Given the description of an element on the screen output the (x, y) to click on. 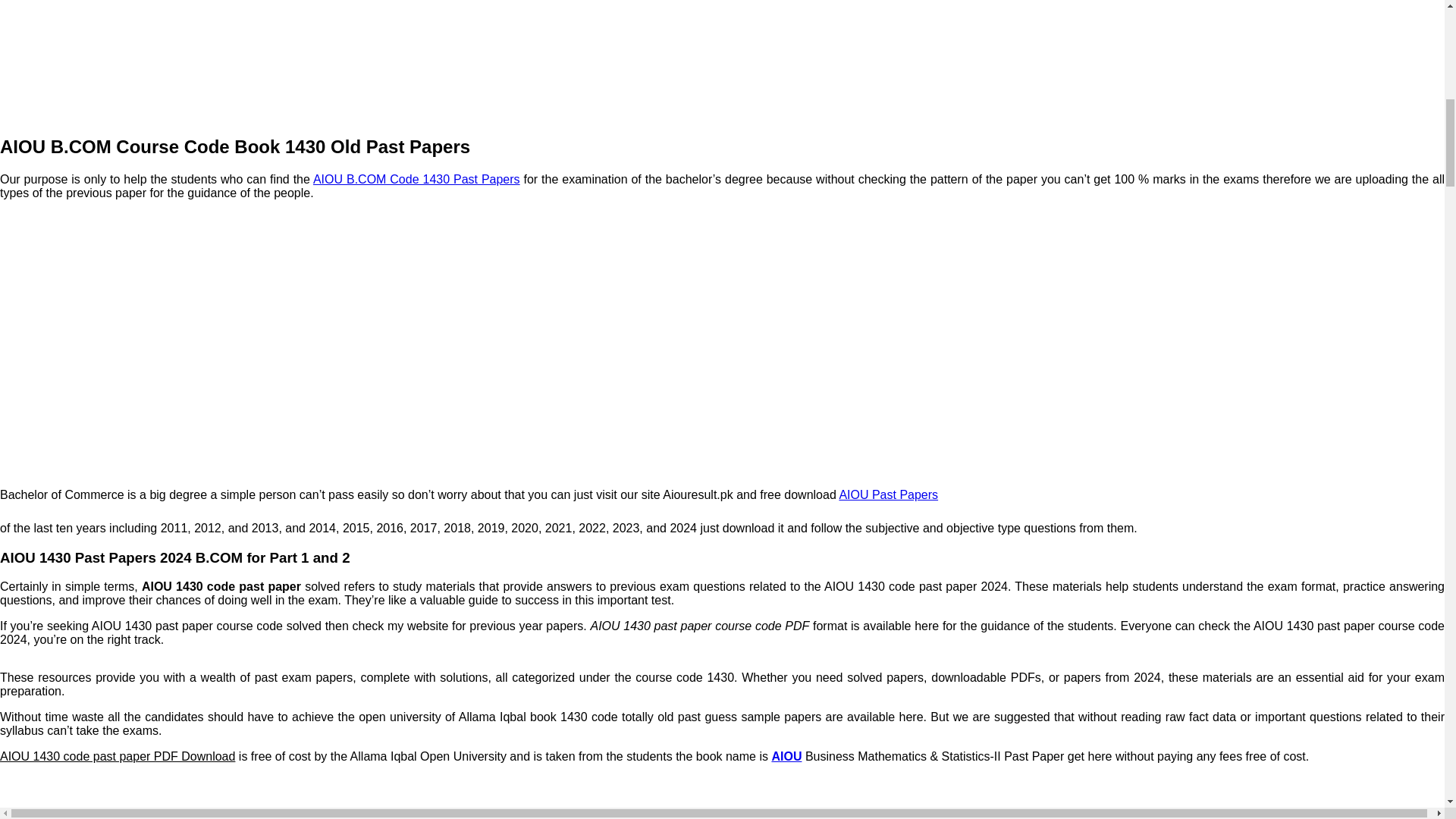
AIOU B.COM Code 1429 Old Past Papers (416, 178)
Advertisement (721, 60)
Allama Iqbal Open University Old Past Papers (887, 494)
